Given the description of an element on the screen output the (x, y) to click on. 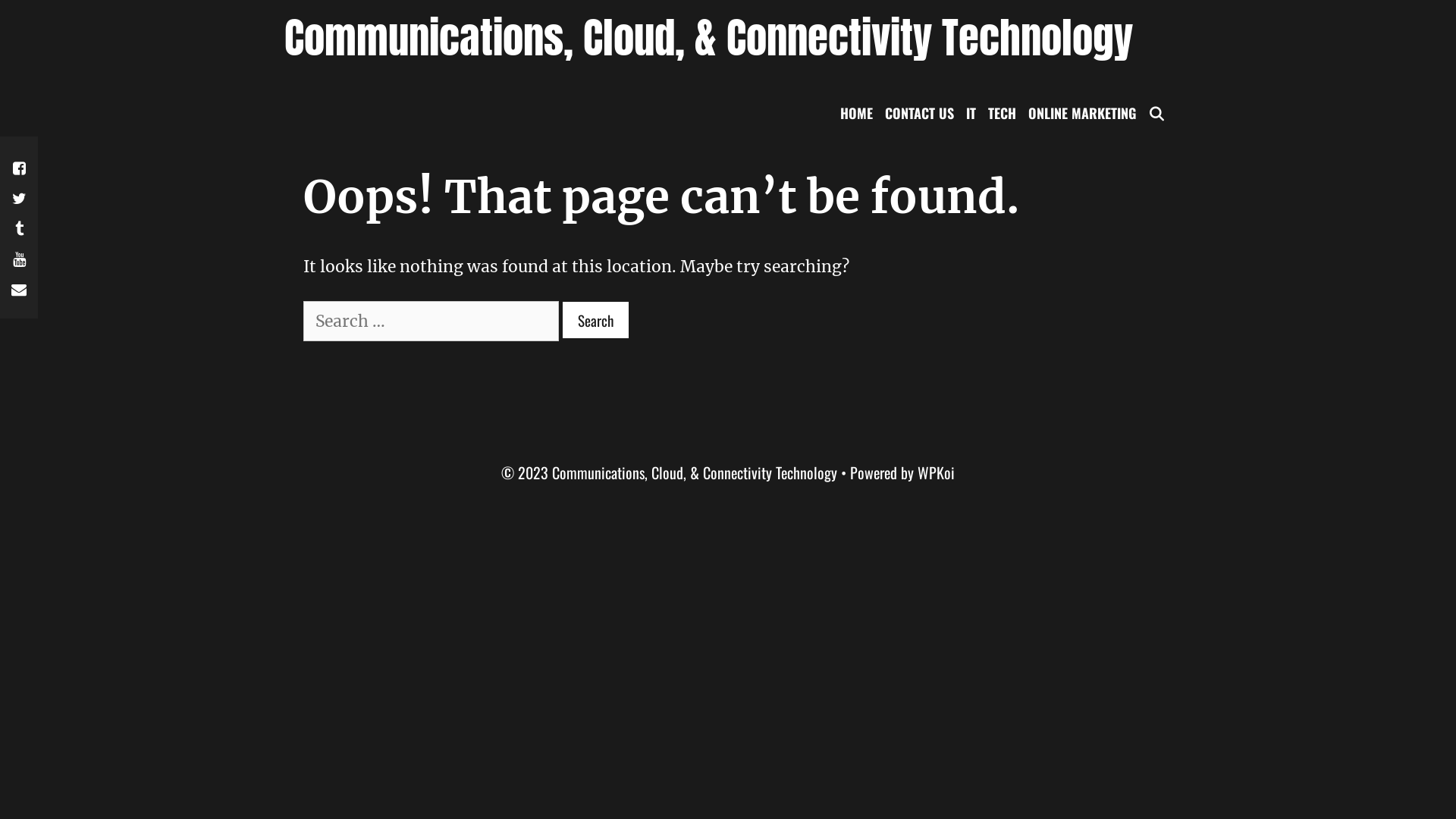
WPKoi Element type: text (935, 472)
Communications, Cloud, & Connectivity Technology Element type: text (708, 37)
Search Element type: text (168, 37)
TECH Element type: text (1002, 112)
Search Element type: text (595, 319)
ONLINE MARKETING Element type: text (1082, 112)
Skip to content Element type: text (0, 0)
Search for: Element type: hover (430, 321)
HOME Element type: text (856, 112)
SEARCH Element type: text (1156, 112)
CONTACT US Element type: text (919, 112)
IT Element type: text (971, 112)
